Given the description of an element on the screen output the (x, y) to click on. 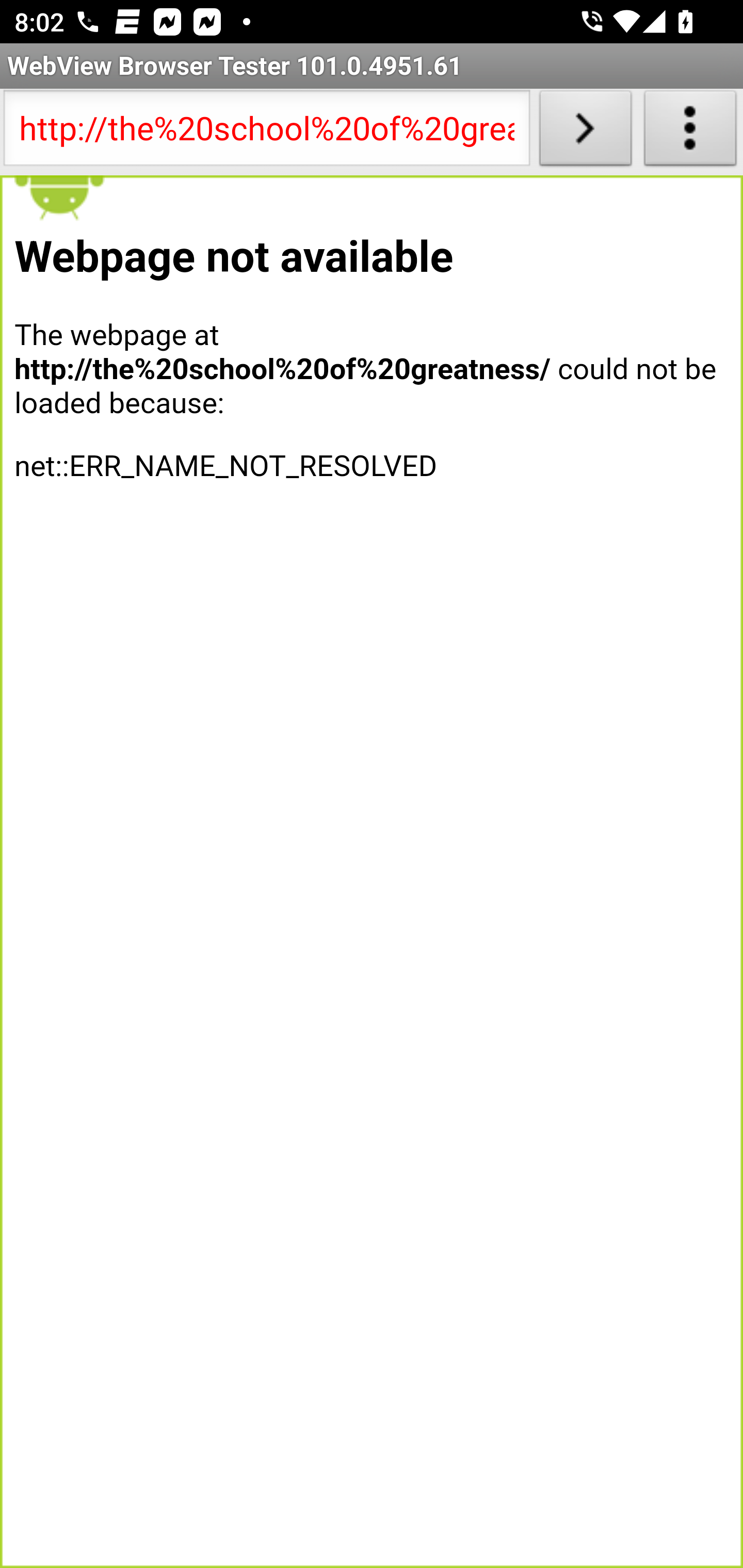
http://the%20school%20of%20greatness/ (266, 132)
Load URL (585, 132)
About WebView (690, 132)
